Given the description of an element on the screen output the (x, y) to click on. 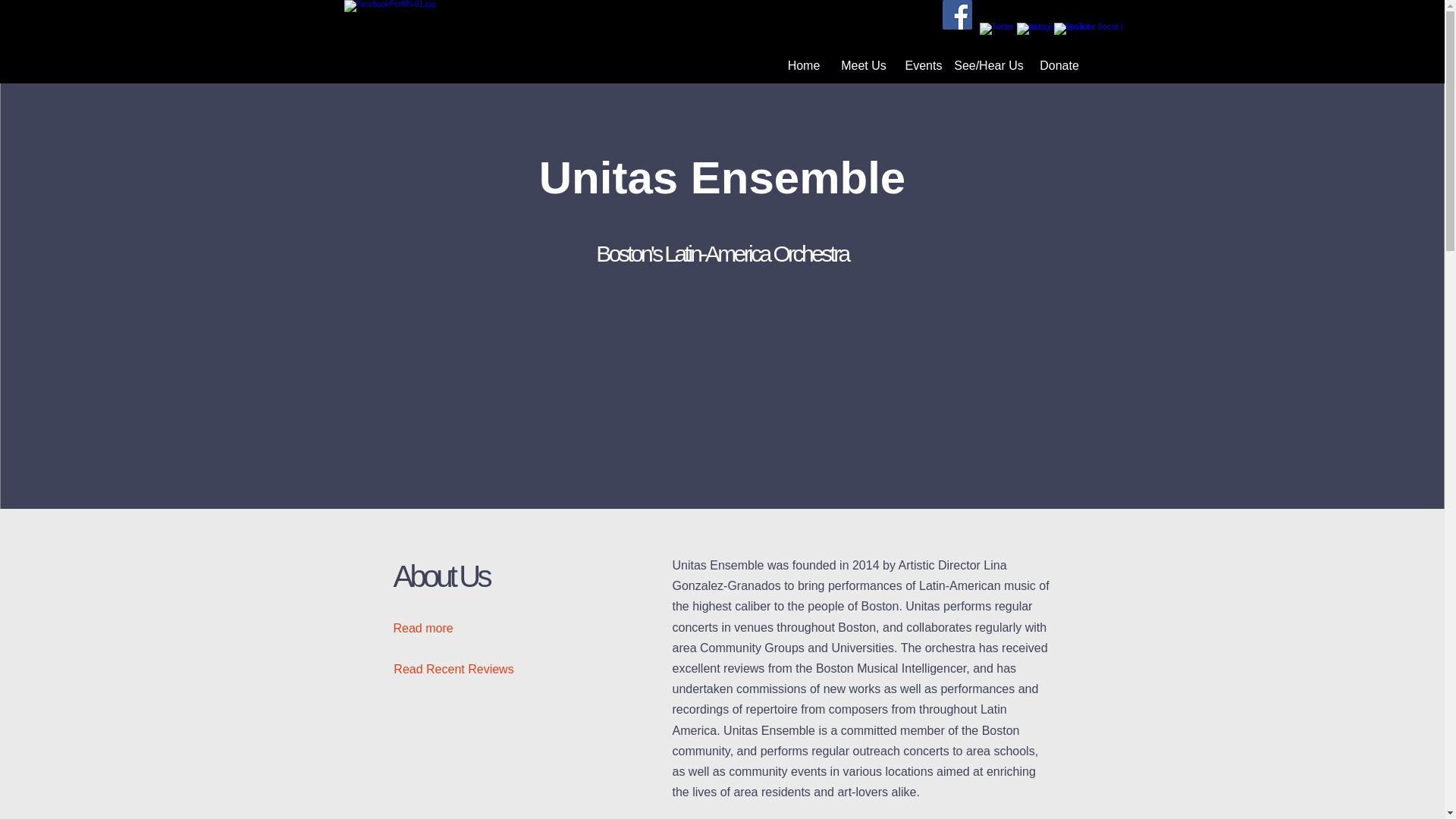
Read more (435, 628)
Events (923, 65)
Read Recent Reviews (453, 669)
Donate (1058, 65)
Meet Us (863, 65)
Home (802, 65)
